Given the description of an element on the screen output the (x, y) to click on. 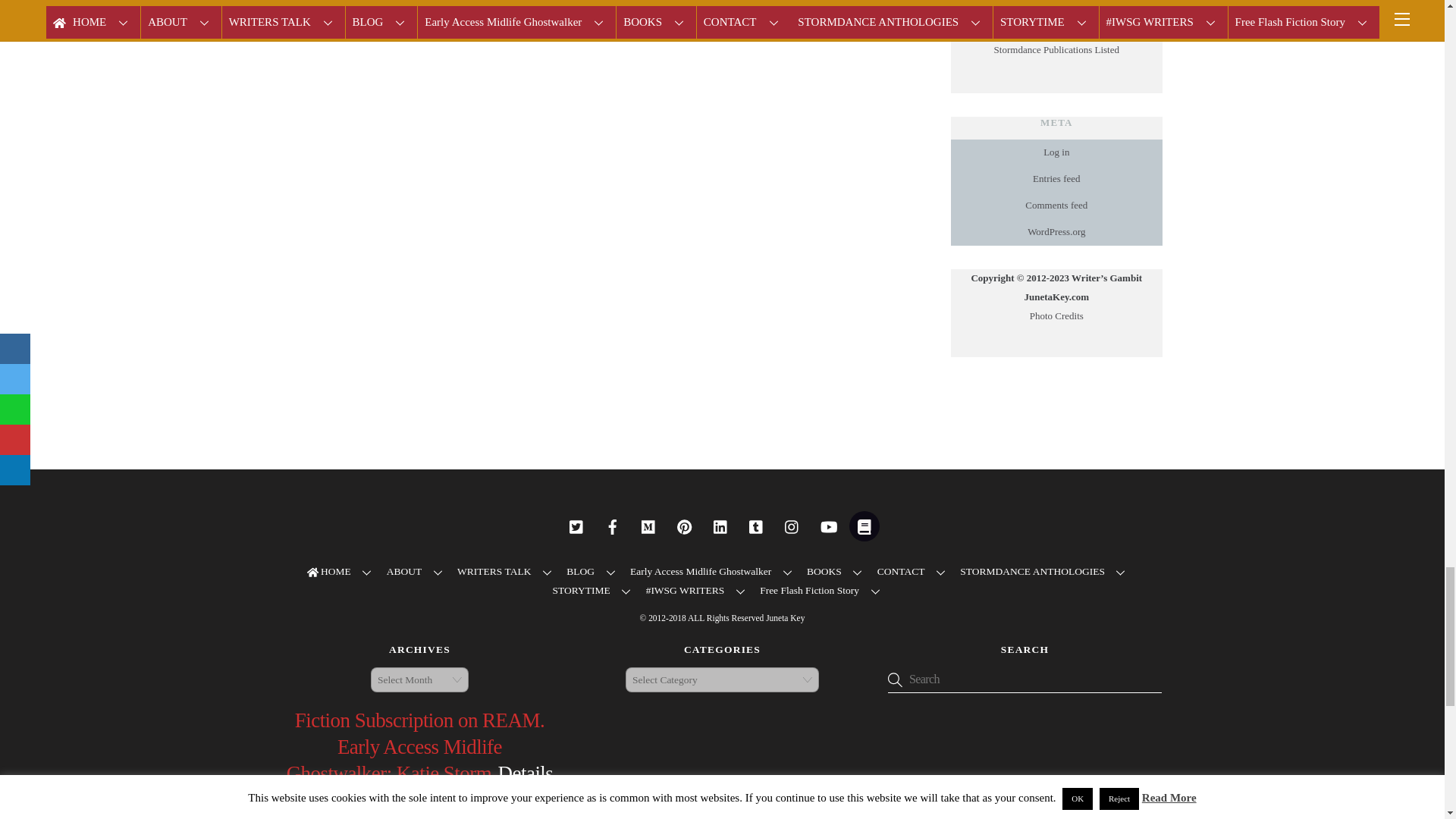
Search (1024, 679)
